Given the description of an element on the screen output the (x, y) to click on. 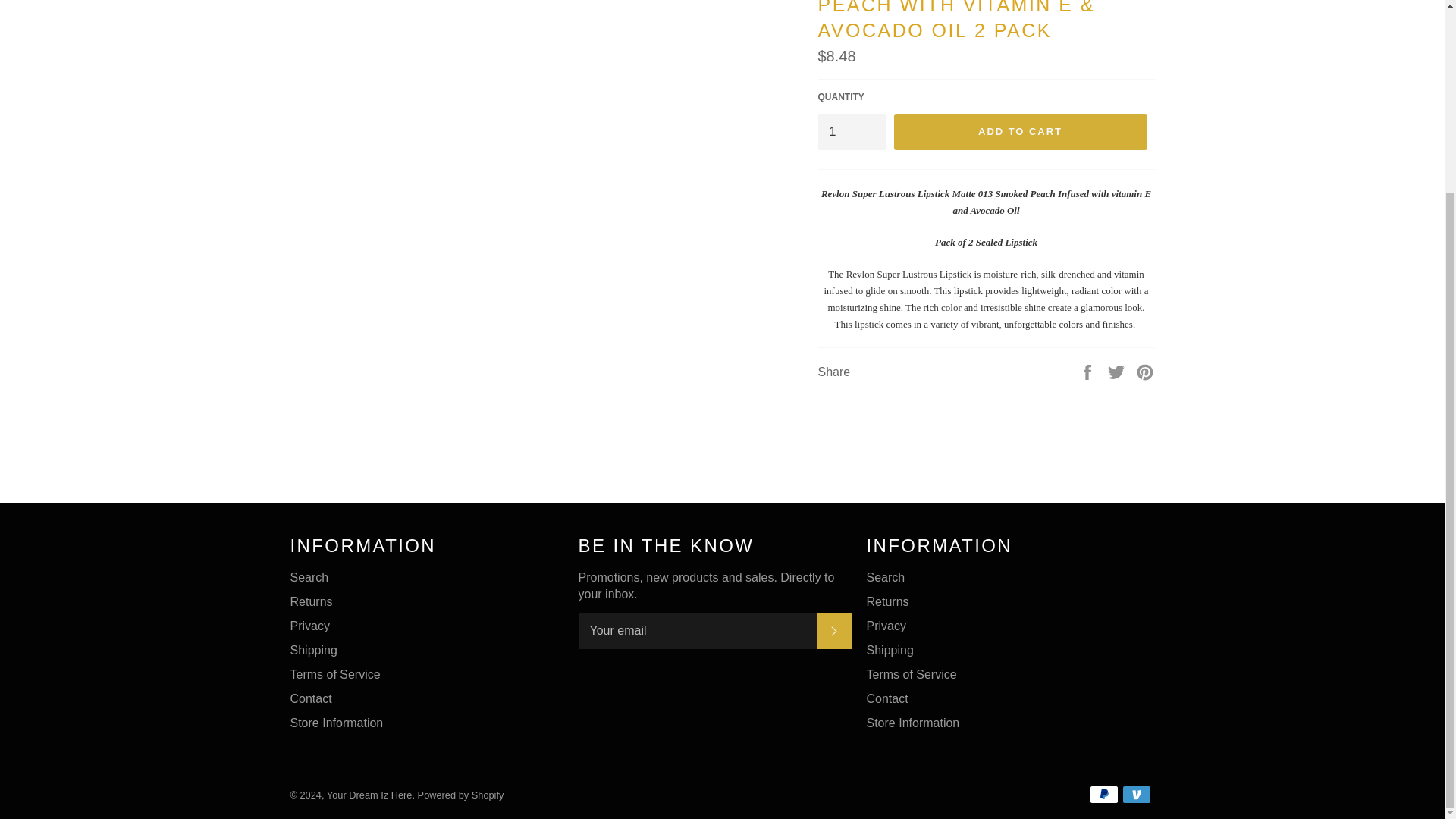
Contact (310, 698)
Share on Facebook (1088, 370)
Shipping (312, 649)
Tweet on Twitter (1117, 370)
Tweet on Twitter (1117, 370)
Terms of Service (334, 674)
Returns (310, 601)
Pin on Pinterest (1144, 370)
1 (850, 131)
Store Information (335, 722)
